Given the description of an element on the screen output the (x, y) to click on. 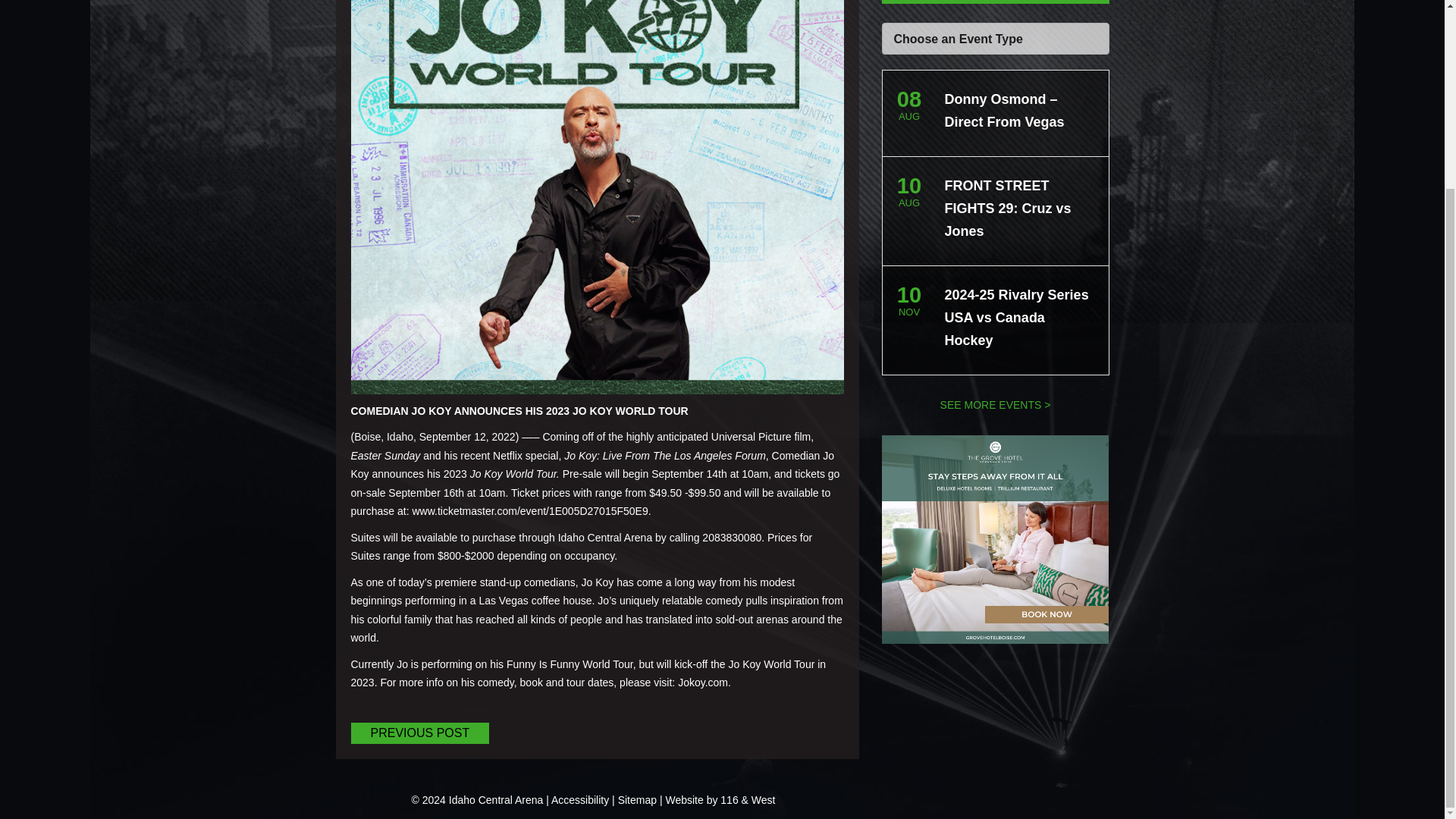
PREVIOUS POST (419, 732)
BUY TICKETS (994, 2)
